Given the description of an element on the screen output the (x, y) to click on. 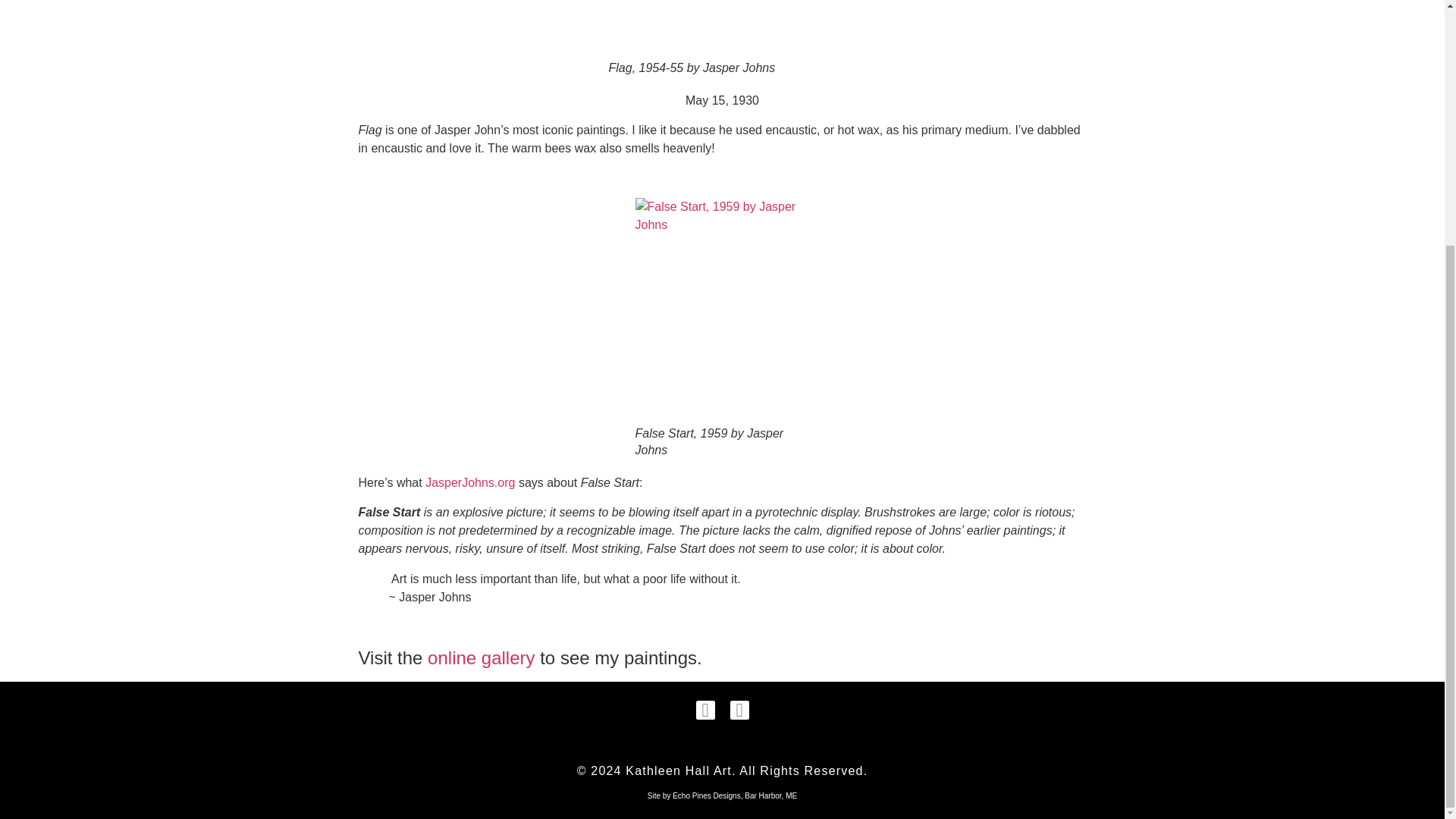
online gallery (484, 657)
Jasper Johns (471, 481)
JasperJohns.org (471, 481)
Online Gallery (484, 657)
